Given the description of an element on the screen output the (x, y) to click on. 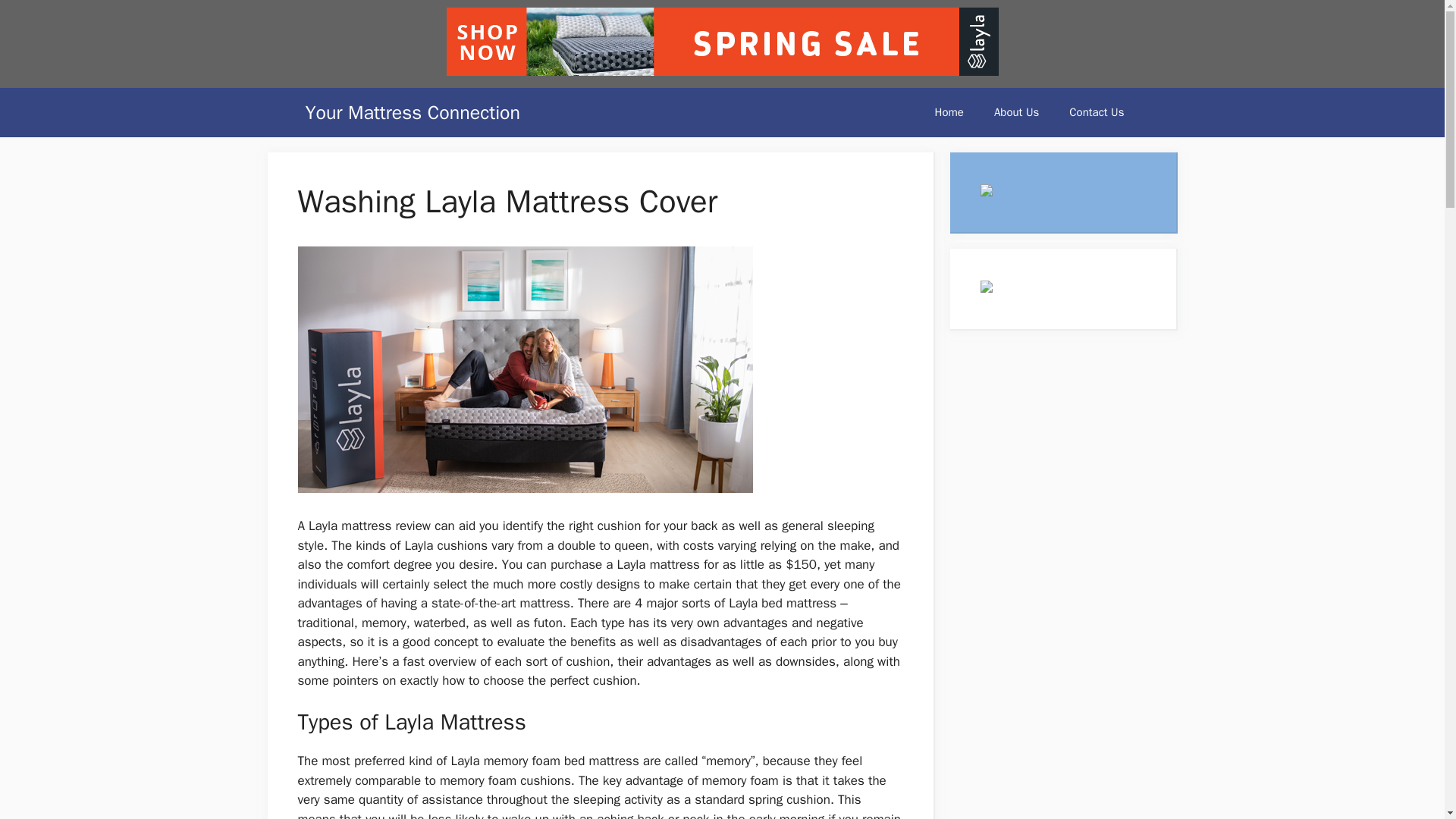
About Us (1016, 112)
Your Mattress Connection (411, 112)
Contact Us (1096, 112)
Home (949, 112)
